Given the description of an element on the screen output the (x, y) to click on. 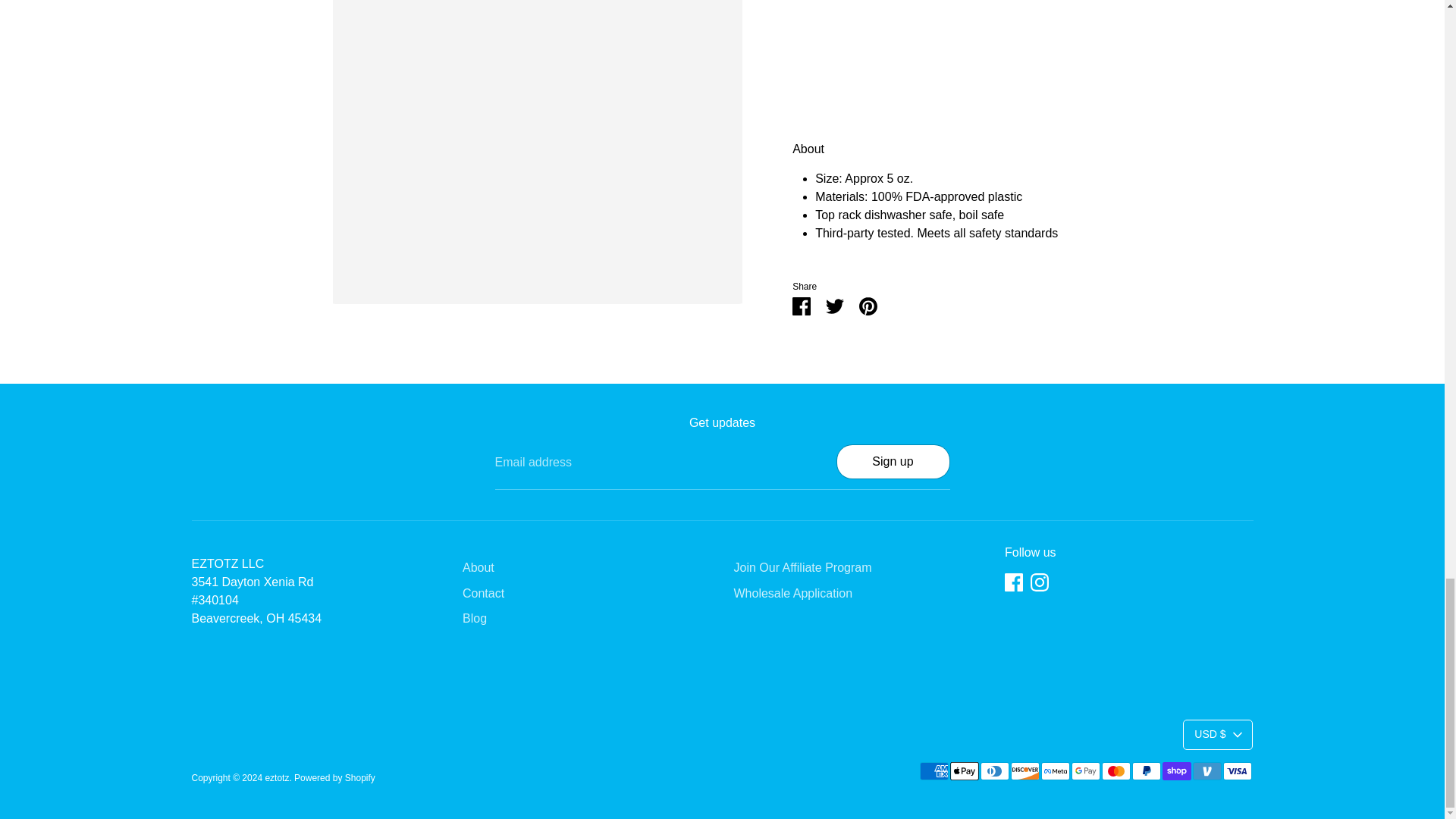
Diners Club (994, 771)
Apple Pay (963, 771)
American Express (932, 771)
Meta Pay (1054, 771)
Google Pay (1084, 771)
Discover (1024, 771)
Mastercard (1114, 771)
